Given the description of an element on the screen output the (x, y) to click on. 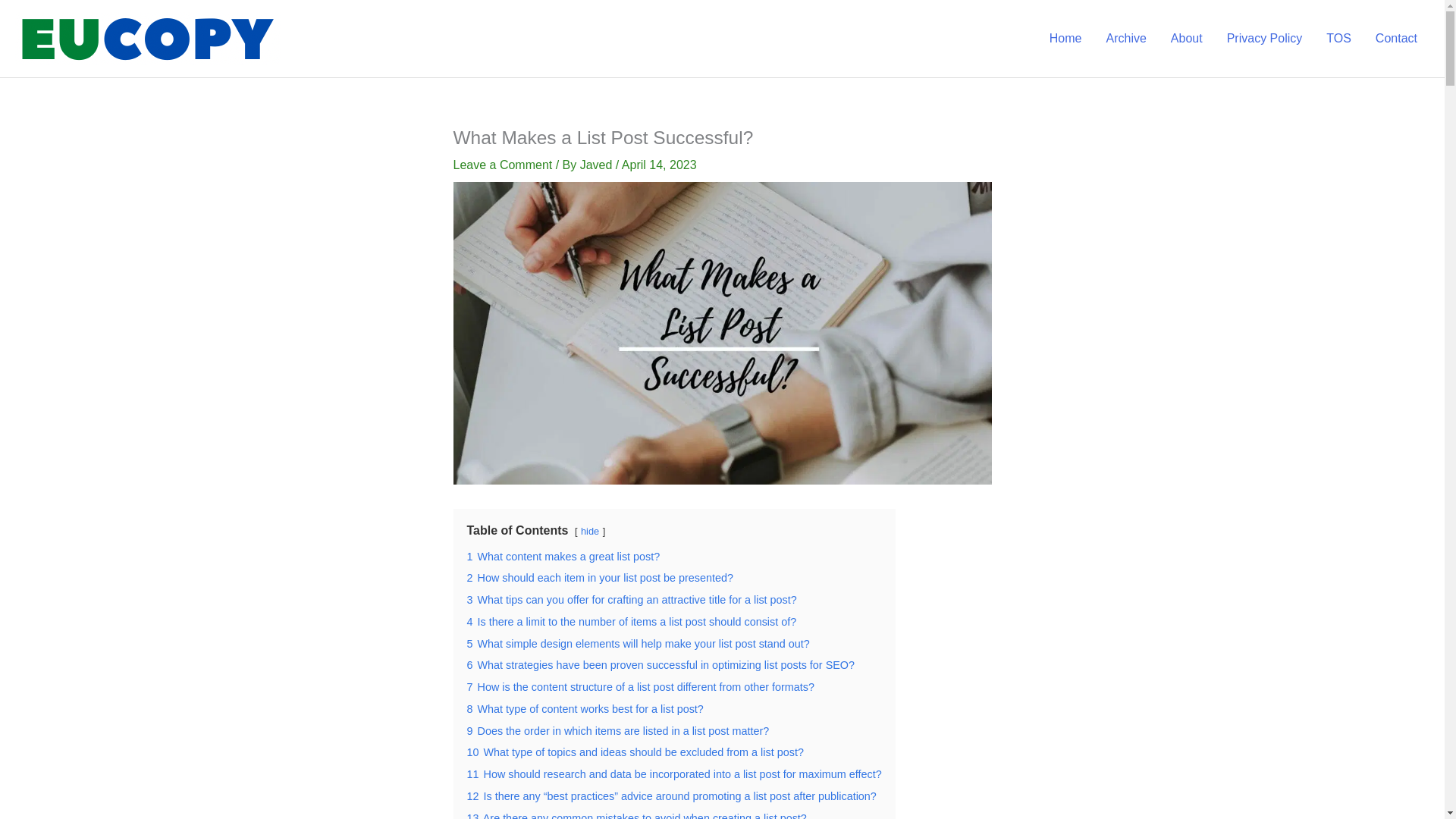
About (1186, 38)
hide (589, 531)
Leave a Comment (502, 164)
Privacy Policy (1264, 38)
